Given the description of an element on the screen output the (x, y) to click on. 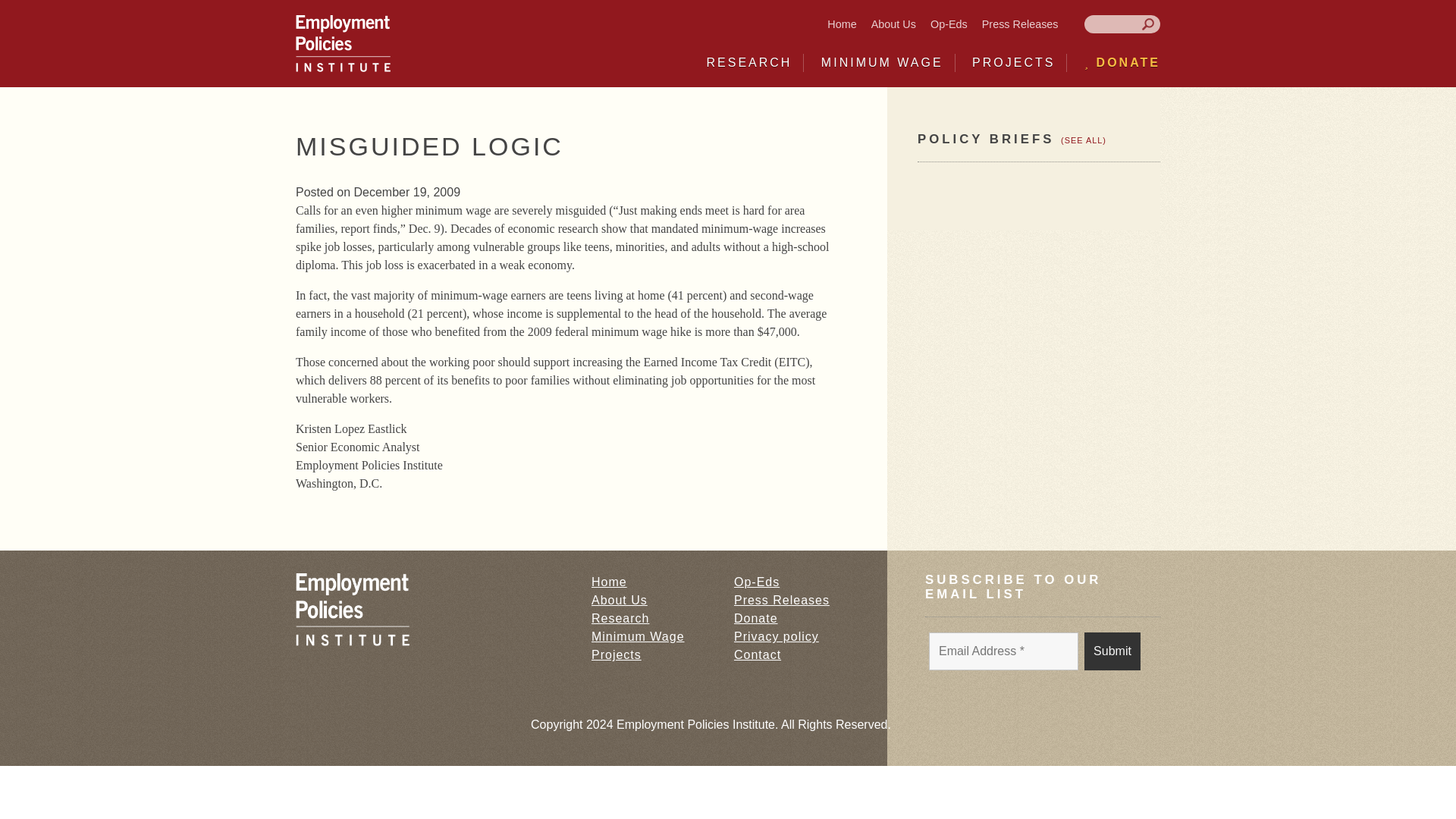
Op-Eds (755, 581)
About Us (892, 24)
MINIMUM WAGE (882, 62)
Press Releases (781, 599)
About Us (619, 599)
Home (841, 24)
Home (609, 581)
PROJECTS (1013, 62)
Op-Eds (949, 24)
Projects (616, 654)
Contact (756, 654)
Submit (1112, 651)
Privacy policy (775, 635)
DONATE (1122, 62)
Donate (755, 617)
